Given the description of an element on the screen output the (x, y) to click on. 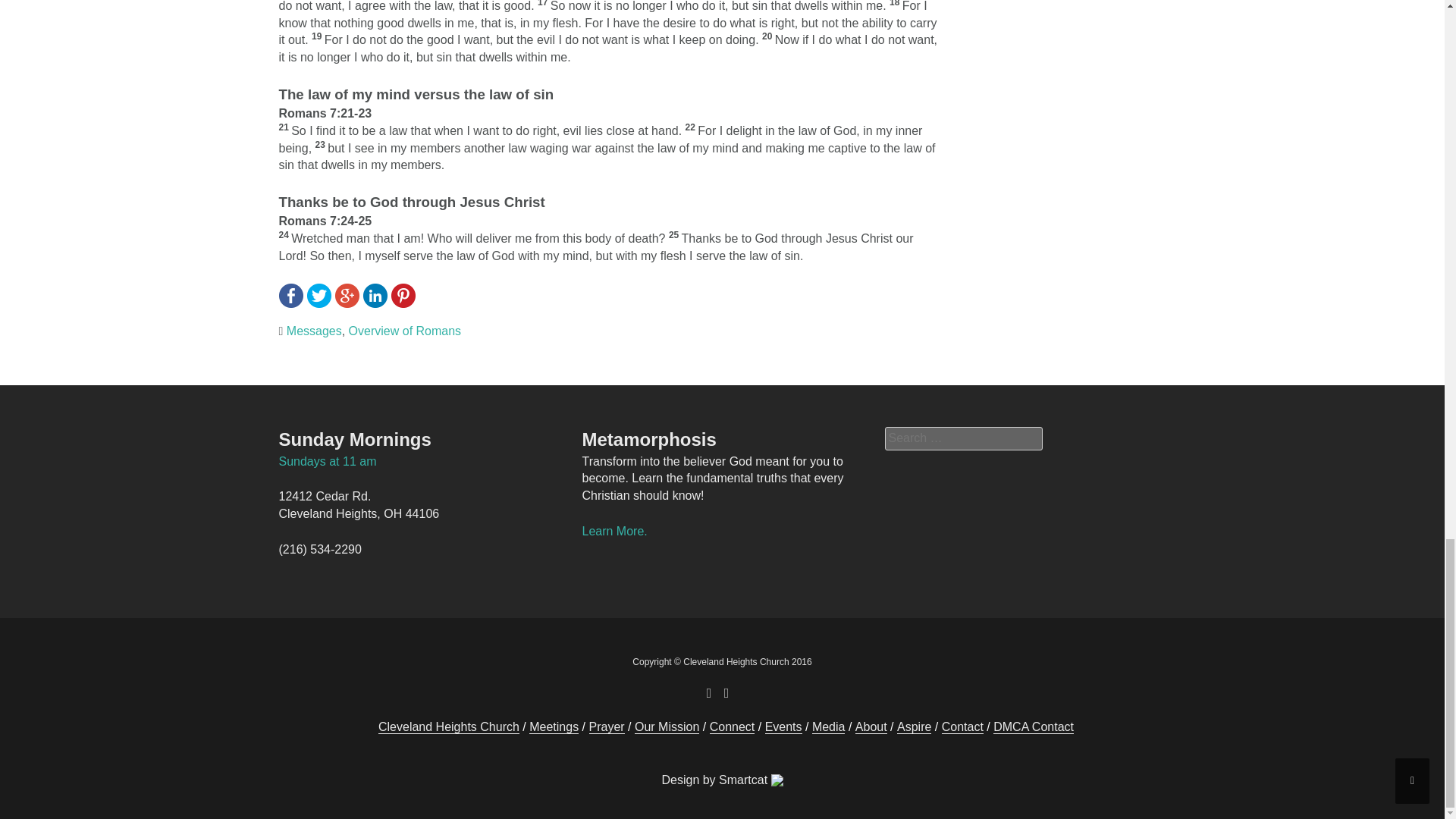
Messages (314, 330)
Overview of Romans (405, 330)
Sundays at 11 am (328, 461)
